Given the description of an element on the screen output the (x, y) to click on. 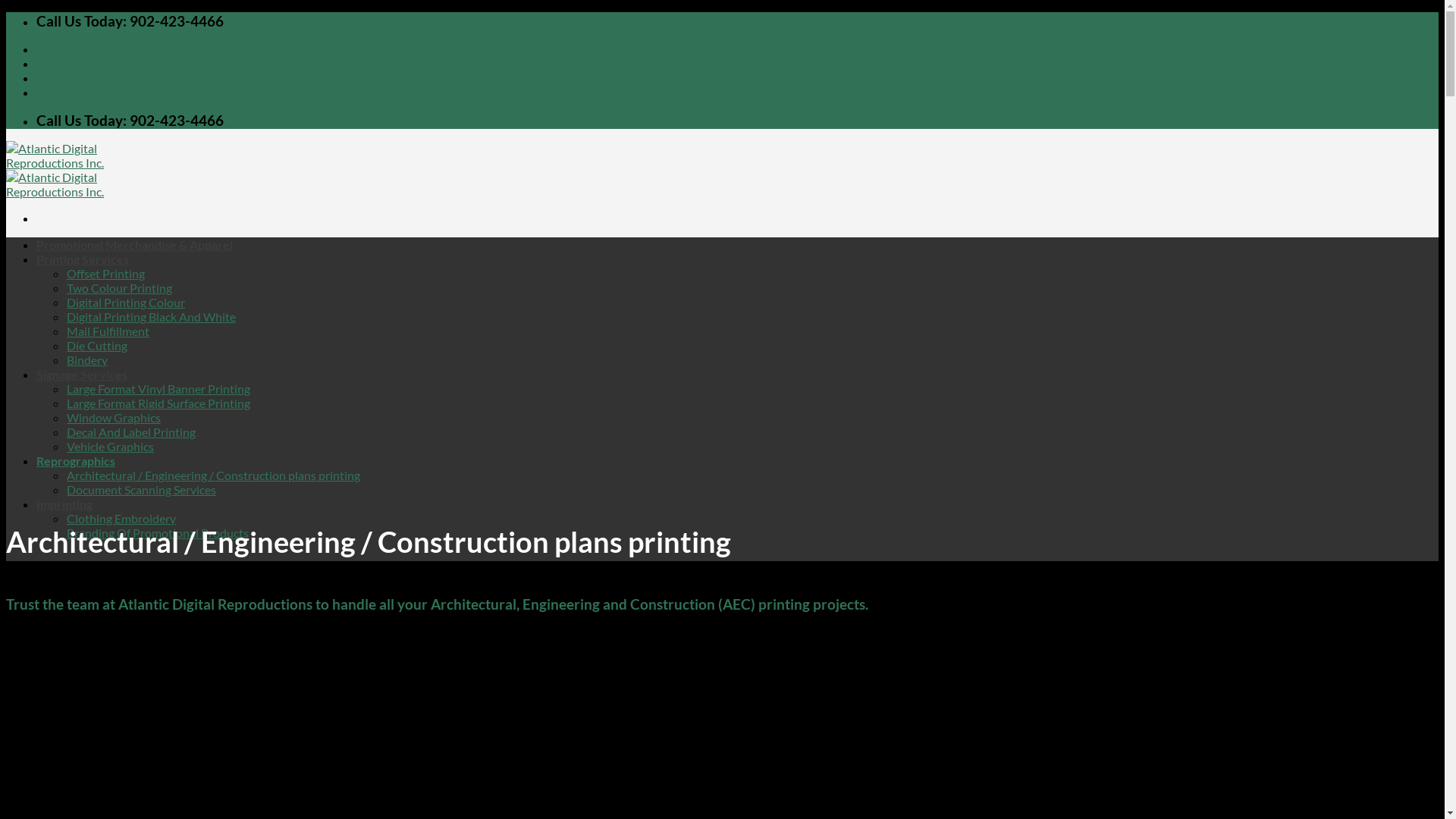
Digital Printing Colour Element type: text (125, 301)
Request an Estimate Element type: text (90, 63)
Mail Fulfillment Element type: text (107, 330)
Window Graphics Element type: text (113, 417)
Home Element type: text (52, 48)
Branding Of Promotional Products Element type: text (157, 532)
Promotional Merchandise & Apparel Element type: text (134, 244)
Clothing Embroidery Element type: text (120, 518)
Decal And Label Printing Element type: text (130, 431)
Reprographics Element type: text (75, 460)
Skip to content Element type: text (5, 11)
Offset Printing Element type: text (105, 273)
Printing Services Element type: text (82, 258)
Large Format Vinyl Banner Printing Element type: text (158, 388)
Contact Us Element type: text (66, 91)
Large Format Rigid Surface Printing Element type: text (158, 402)
Die Cutting Element type: text (96, 345)
Document Scanning Services Element type: text (141, 489)
Imprinting Element type: text (64, 503)
Two Colour Printing Element type: text (119, 287)
Upload Your Files Element type: text (83, 77)
Signage Services Element type: text (81, 374)
Architectural / Engineering / Construction plans printing Element type: text (213, 474)
Vehicle Graphics Element type: text (109, 446)
Bindery Element type: text (86, 359)
Digital Printing Black And White Element type: text (150, 316)
